Given the description of an element on the screen output the (x, y) to click on. 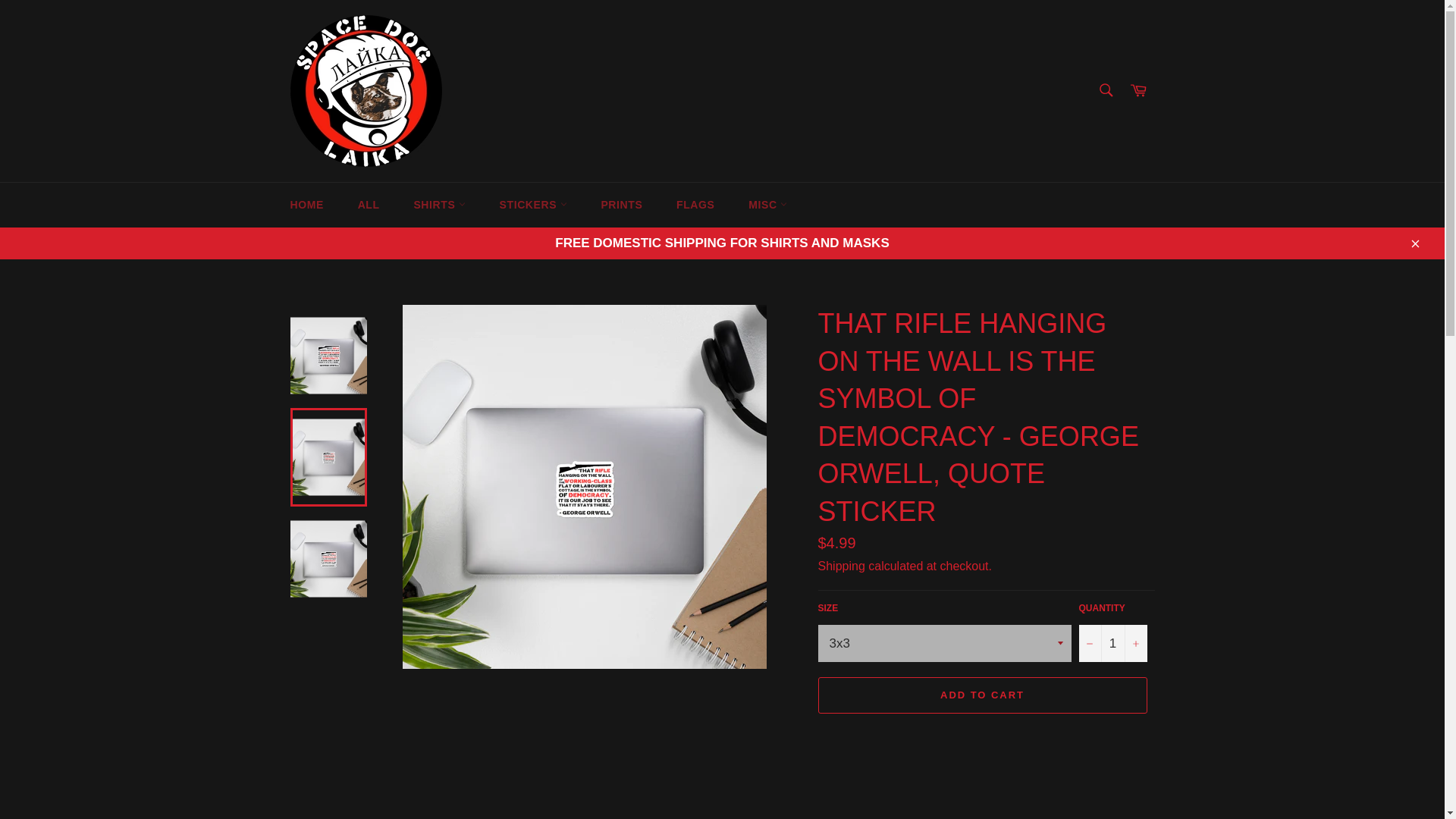
1 (1112, 642)
SHIRTS (438, 204)
HOME (306, 204)
Cart (1138, 91)
ALL (368, 204)
Search (1104, 90)
